Given the description of an element on the screen output the (x, y) to click on. 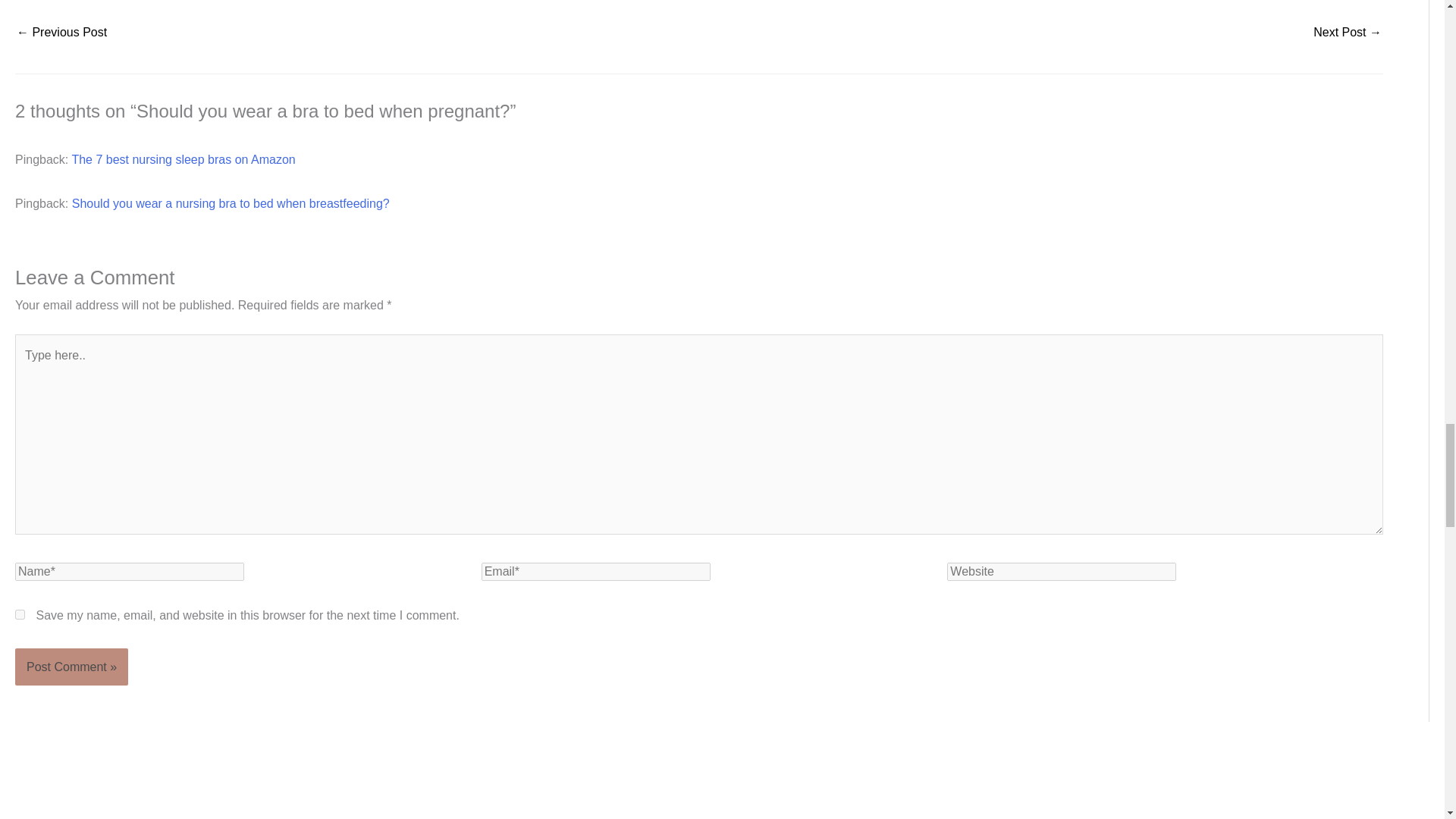
yes (19, 614)
Can I sleep on my stomach after giving birth? (61, 33)
